Given the description of an element on the screen output the (x, y) to click on. 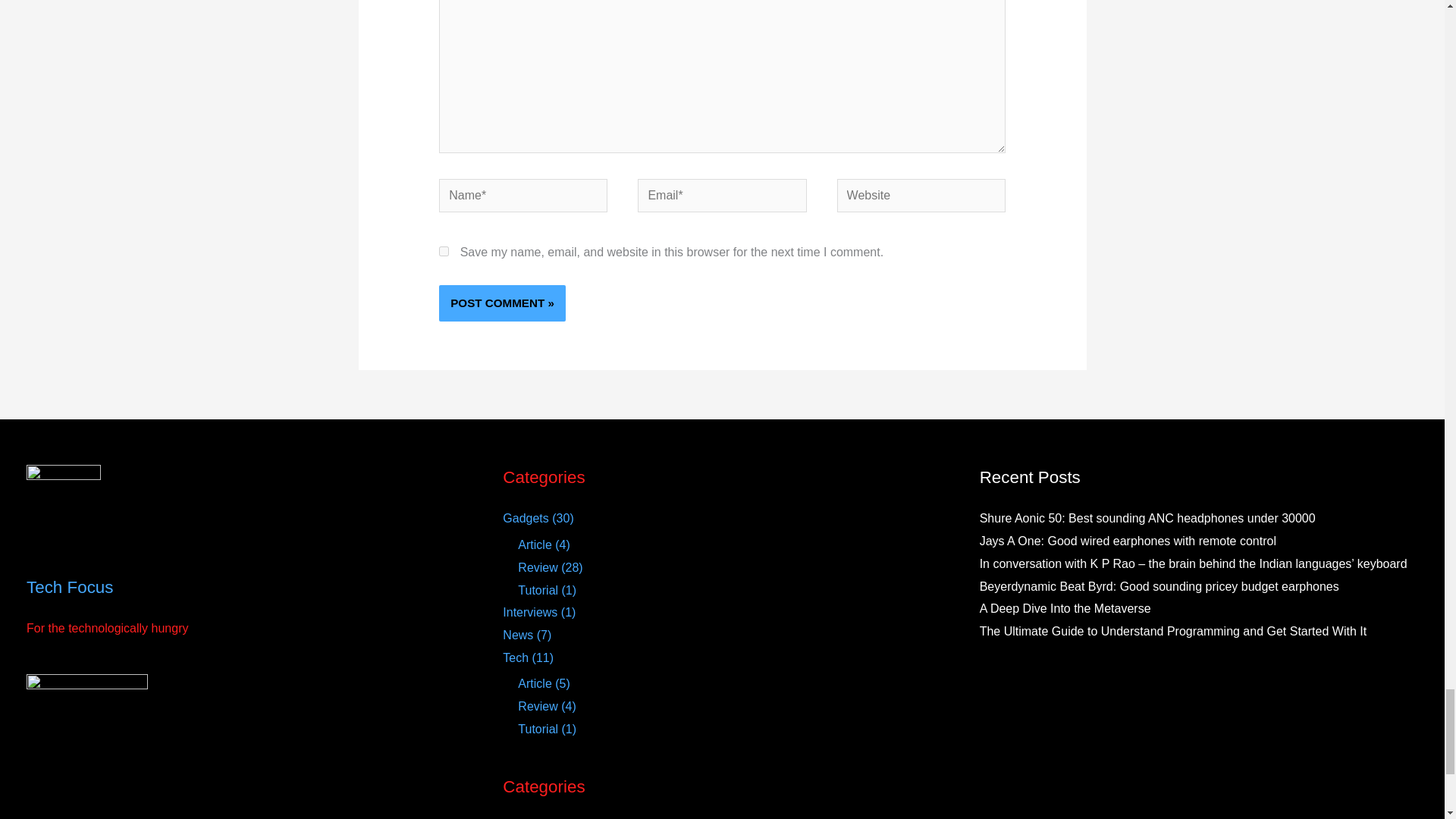
yes (443, 251)
